Given the description of an element on the screen output the (x, y) to click on. 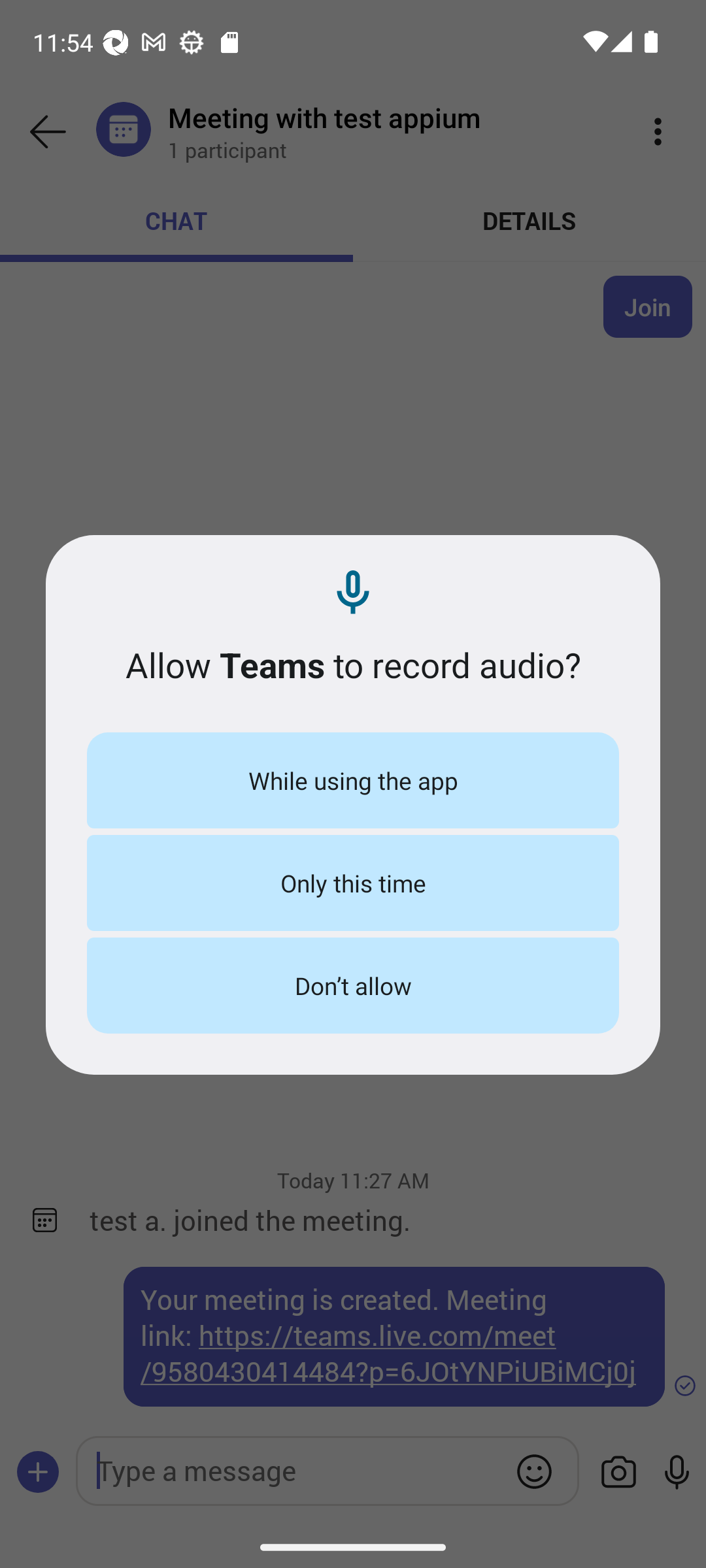
While using the app (352, 779)
Only this time (352, 882)
Don’t allow (352, 985)
